Given the description of an element on the screen output the (x, y) to click on. 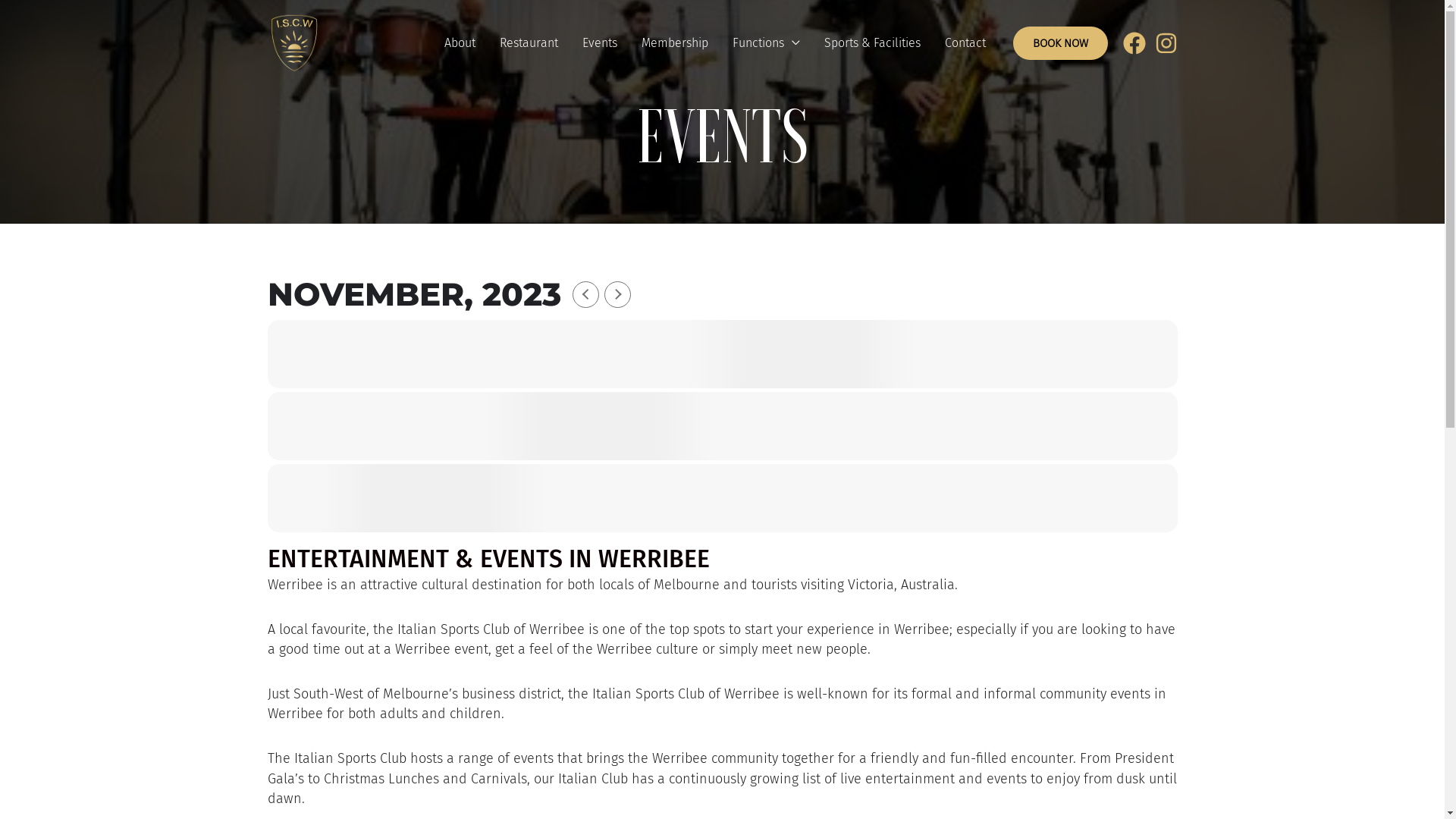
Events Element type: text (599, 42)
Sports & Facilities Element type: text (871, 42)
Functions Element type: text (766, 42)
Restaurant Element type: text (527, 42)
Membership Element type: text (674, 42)
BOOK NOW Element type: text (1060, 43)
Contact Element type: text (964, 42)
About Element type: text (459, 42)
